Given the description of an element on the screen output the (x, y) to click on. 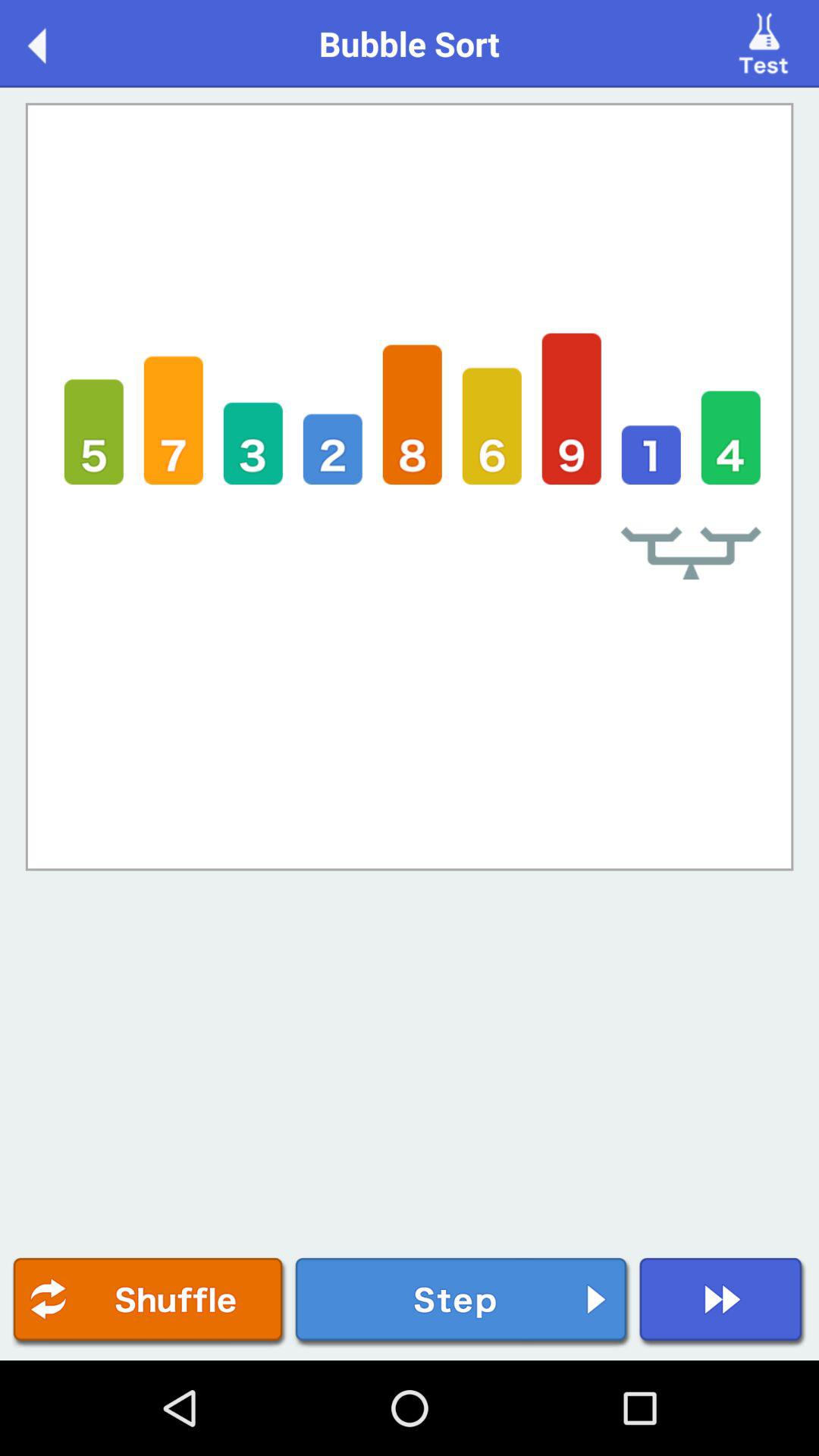
next step (462, 1302)
